Given the description of an element on the screen output the (x, y) to click on. 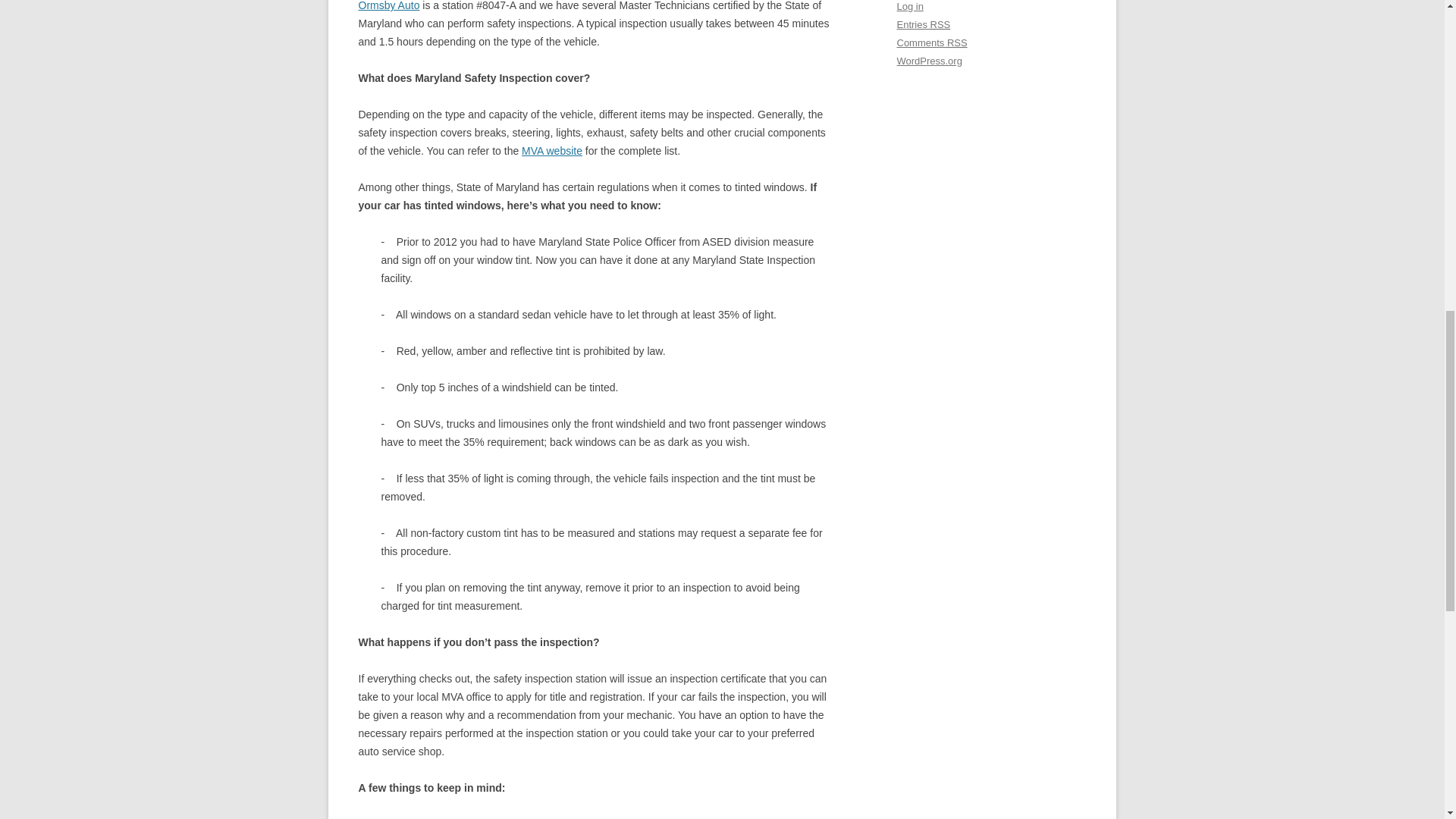
WordPress.org (928, 60)
Log in (909, 6)
Comments RSS (931, 42)
MVA website (551, 150)
Entries RSS (923, 24)
Ormsby Auto (388, 5)
